Given the description of an element on the screen output the (x, y) to click on. 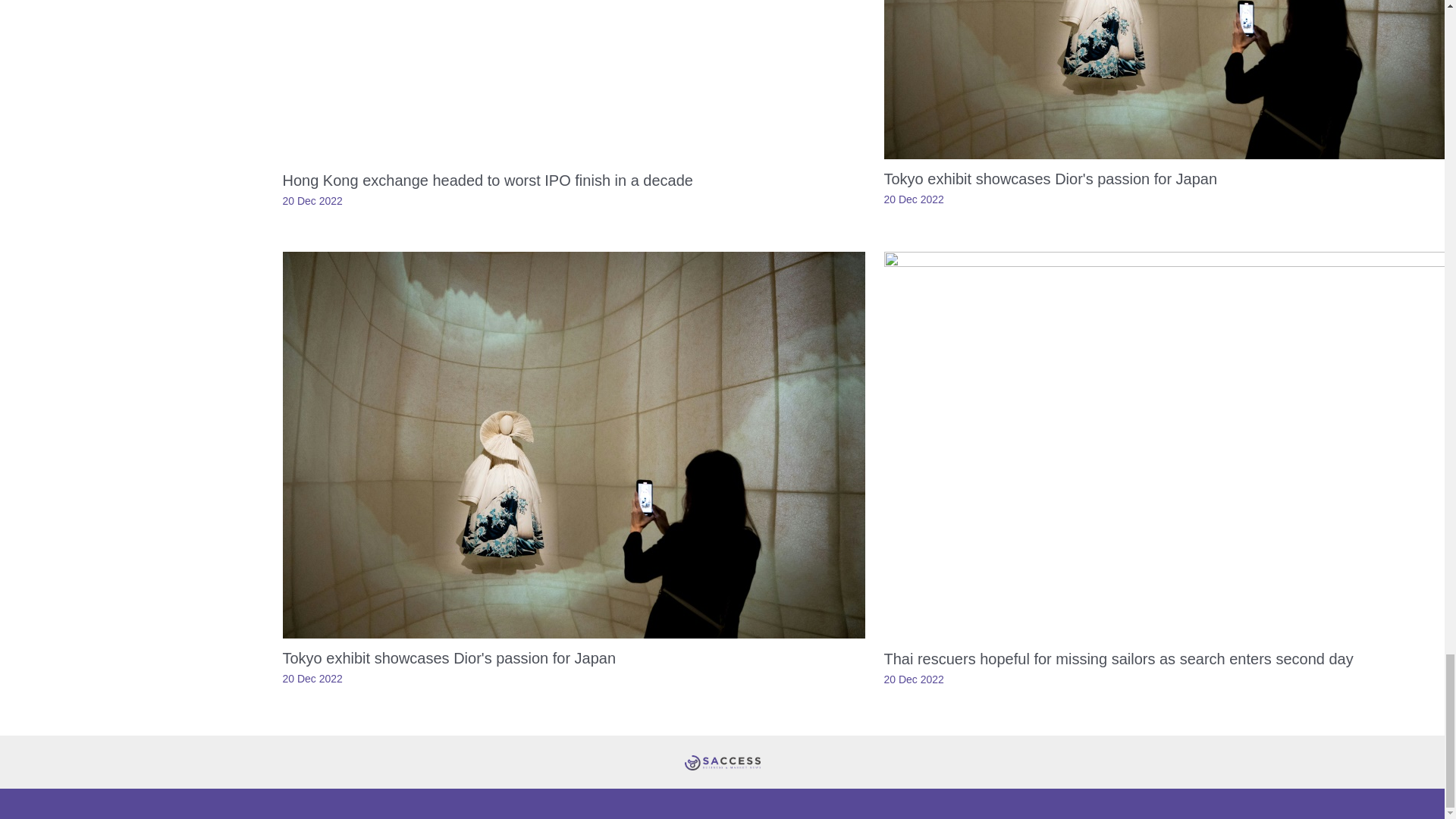
Tokyo exhibit showcases Dior's passion for Japan (1050, 178)
Hong Kong exchange headed to worst IPO finish in a decade (487, 180)
Tokyo exhibit showcases Dior's passion for Japan (448, 658)
